Given the description of an element on the screen output the (x, y) to click on. 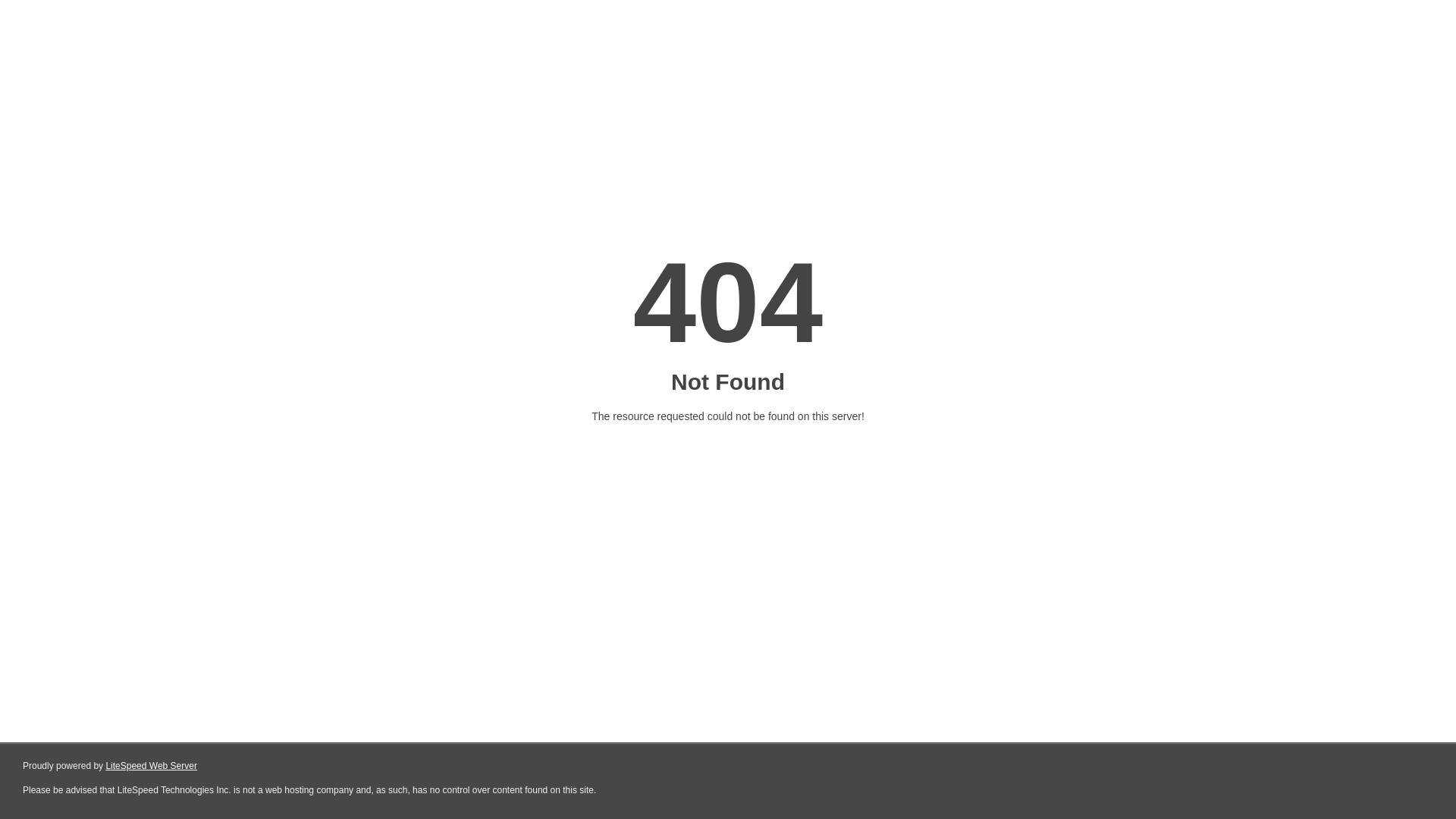
LiteSpeed Web Server Element type: text (151, 765)
